Given the description of an element on the screen output the (x, y) to click on. 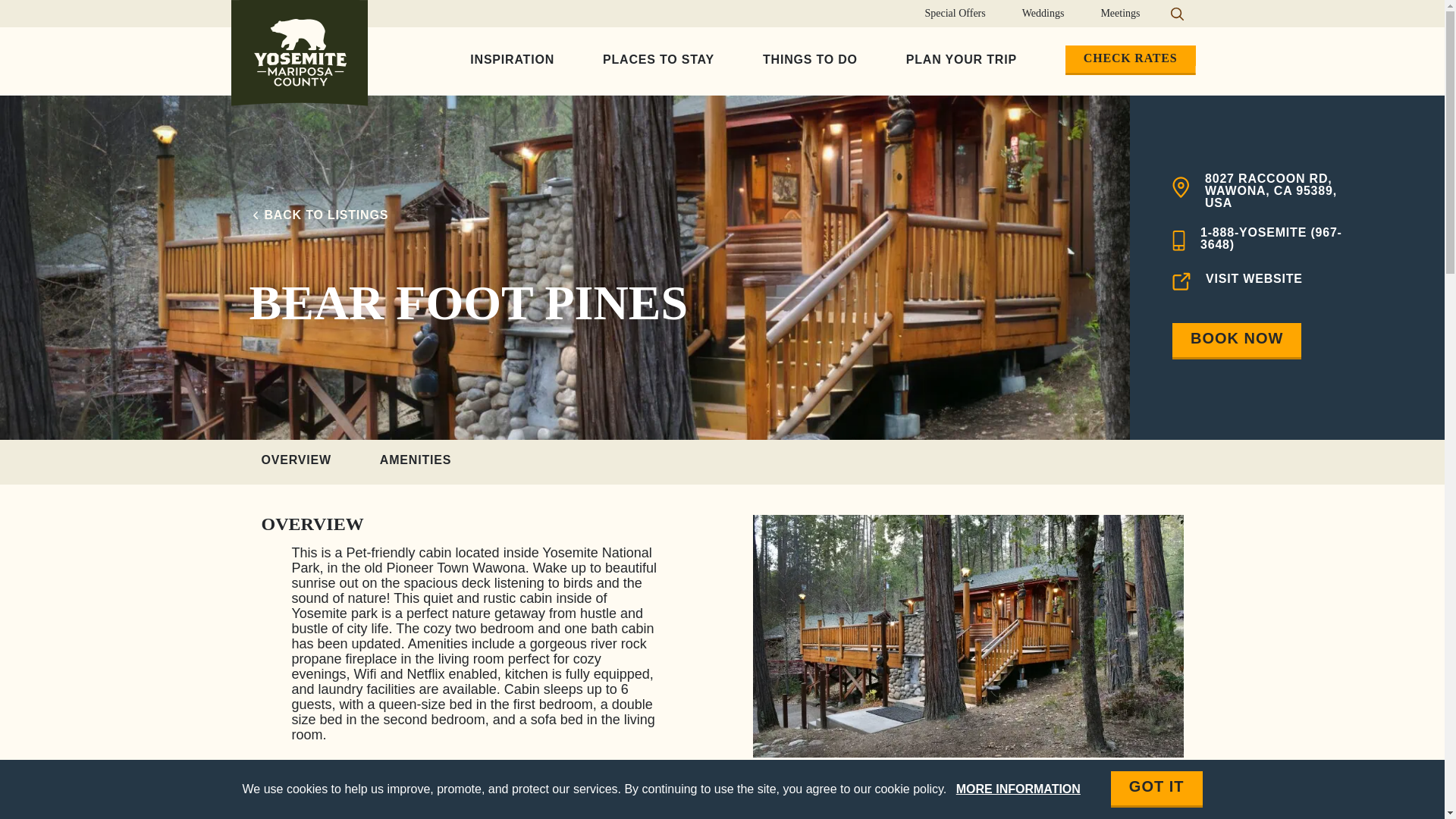
Meetings (1119, 13)
Special Offers (955, 13)
THINGS TO DO (810, 61)
INSPIRATION (511, 61)
PLACES TO STAY (658, 61)
Weddings (1043, 13)
PLAN YOUR TRIP (961, 61)
